Given the description of an element on the screen output the (x, y) to click on. 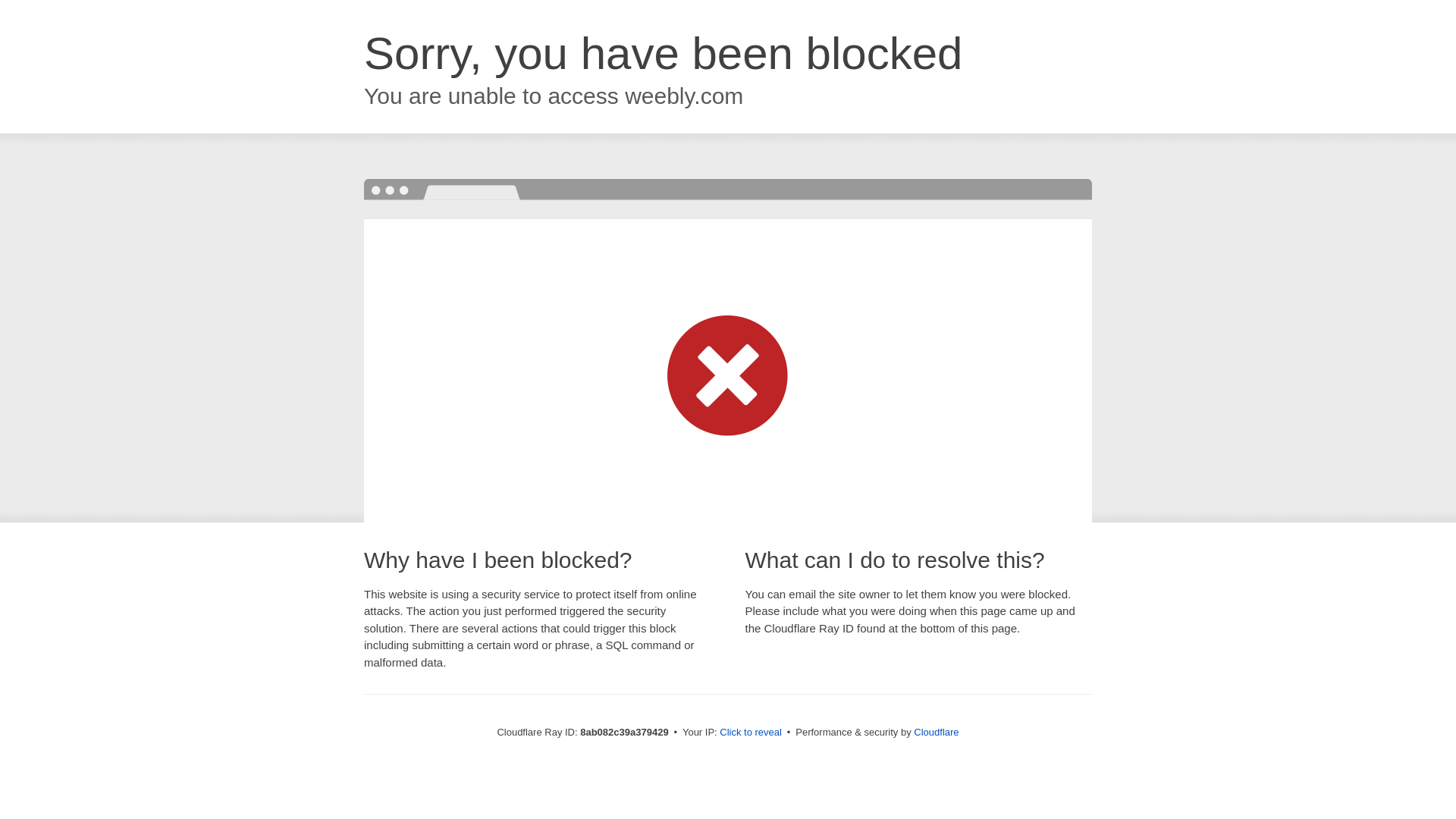
Cloudflare (936, 731)
Click to reveal (750, 732)
